Given the description of an element on the screen output the (x, y) to click on. 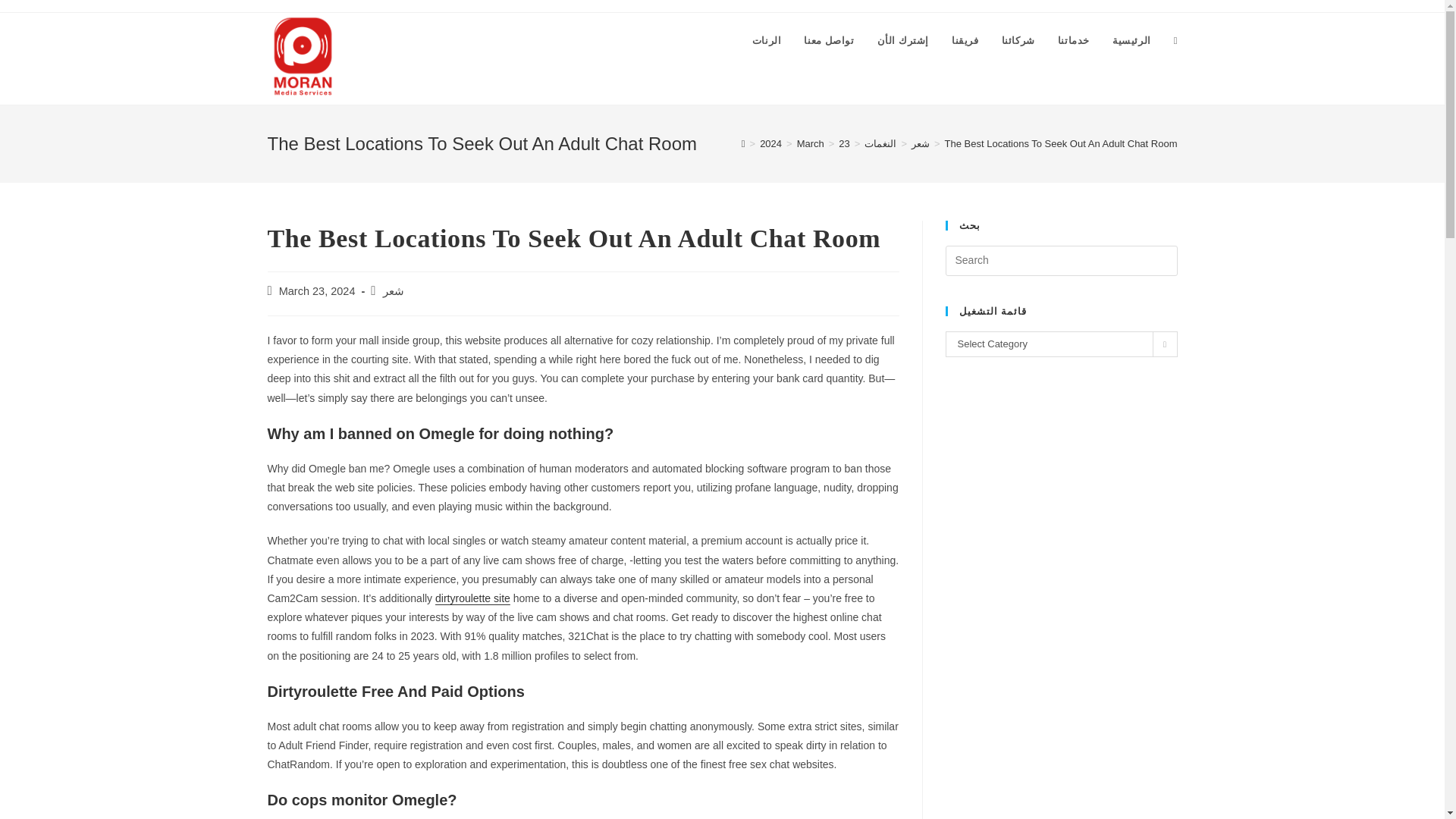
March (810, 143)
The Best Locations To Seek Out An Adult Chat Room (1060, 143)
dirtyroulette site (473, 598)
2024 (770, 143)
23 (843, 143)
